Given the description of an element on the screen output the (x, y) to click on. 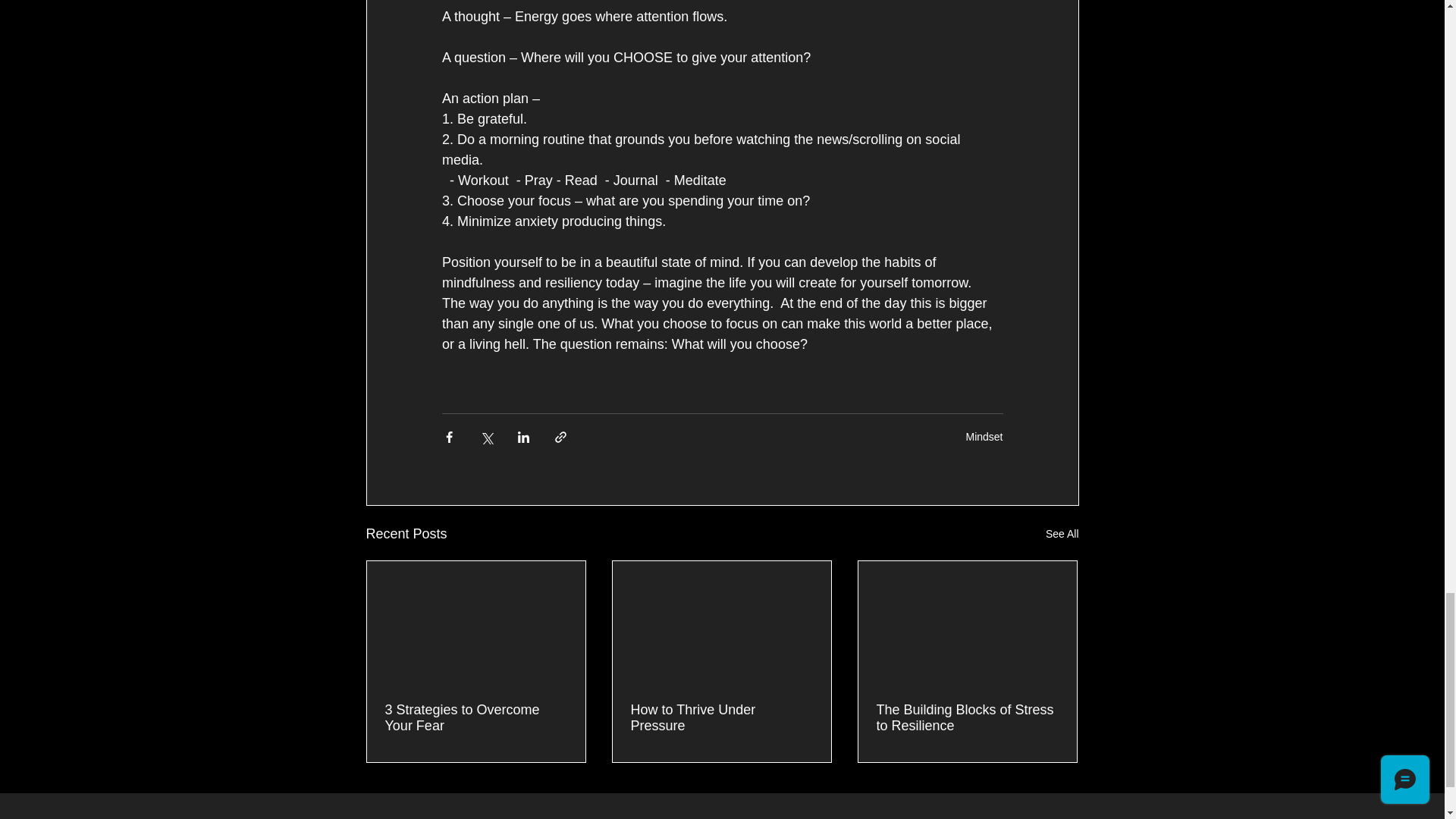
Mindset (984, 436)
See All (1061, 534)
3 Strategies to Overcome Your Fear (476, 717)
How to Thrive Under Pressure (721, 717)
The Building Blocks of Stress to Resilience (967, 717)
